Given the description of an element on the screen output the (x, y) to click on. 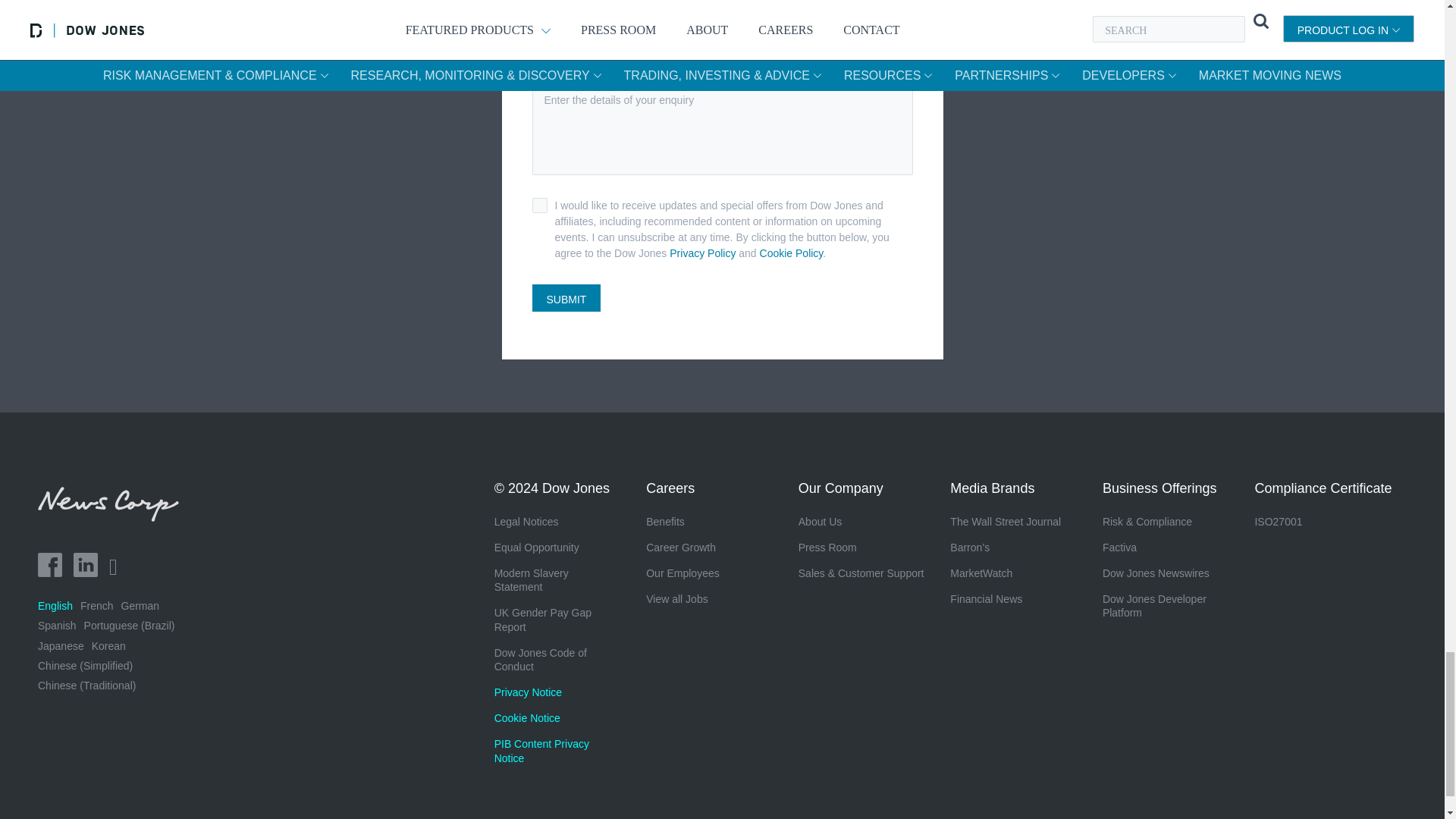
Submit (566, 298)
Newscorp (113, 516)
